Given the description of an element on the screen output the (x, y) to click on. 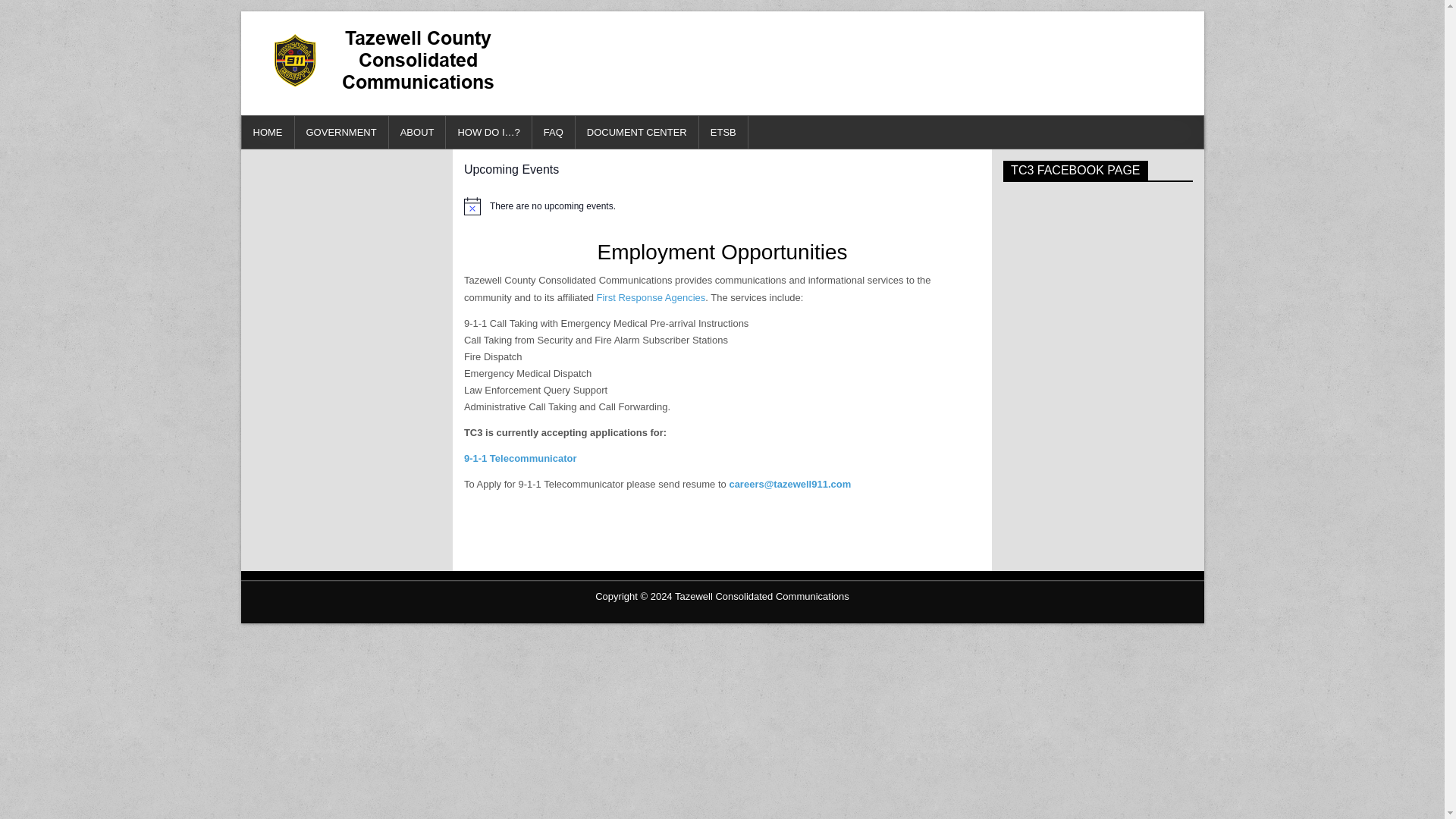
First Response Agencies (651, 297)
FAQ (553, 132)
9-1-1 Telecommunicator (520, 458)
ABOUT (417, 132)
HOME (267, 132)
DOCUMENT CENTER (636, 132)
GOVERNMENT (341, 132)
Employment Opportunities (721, 251)
Welcome (267, 132)
Frequent Questions (553, 132)
ETSB (723, 132)
